Given the description of an element on the screen output the (x, y) to click on. 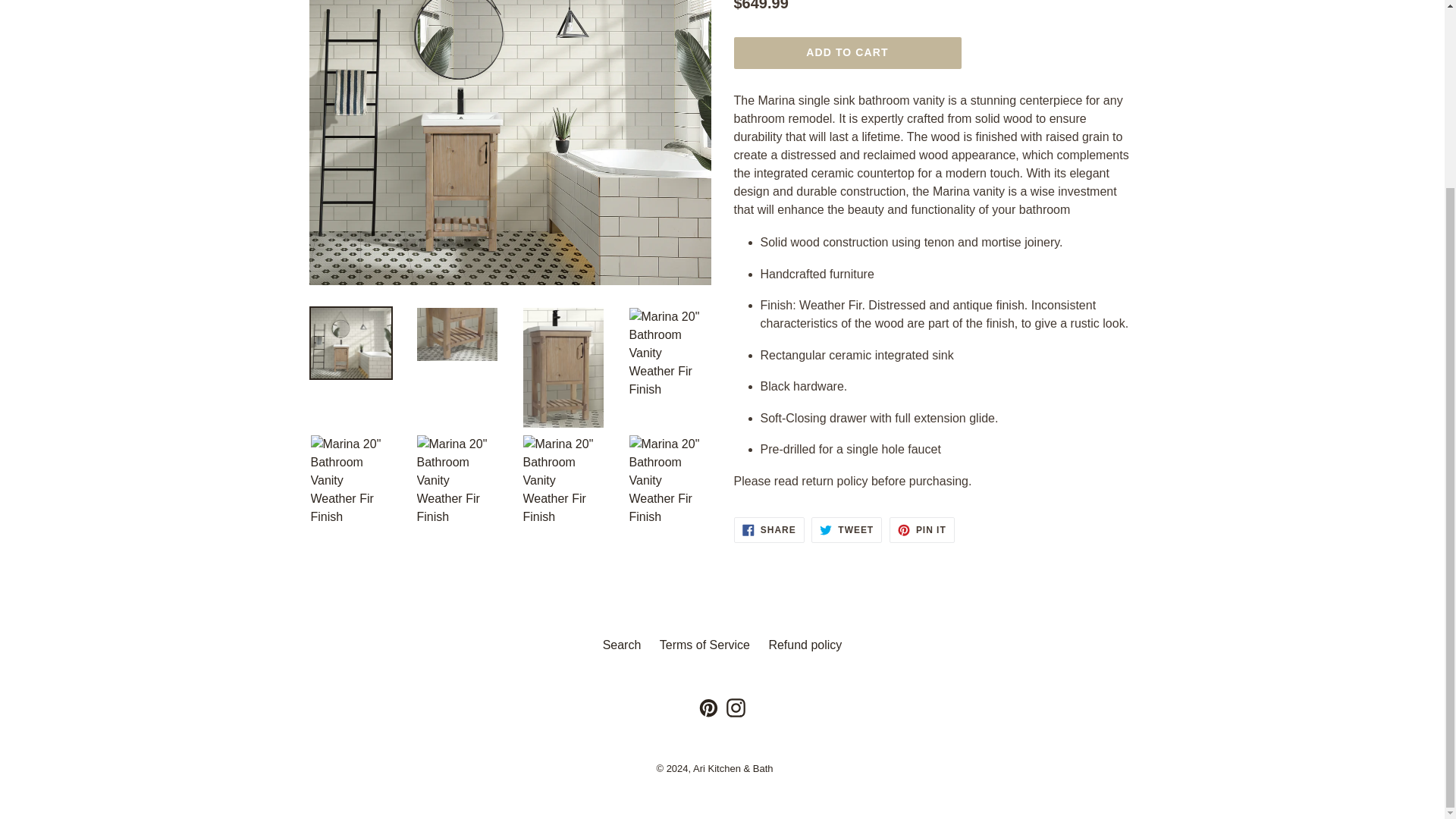
Share on Facebook (769, 529)
Tweet on Twitter (846, 529)
Pin on Pinterest (922, 529)
